Given the description of an element on the screen output the (x, y) to click on. 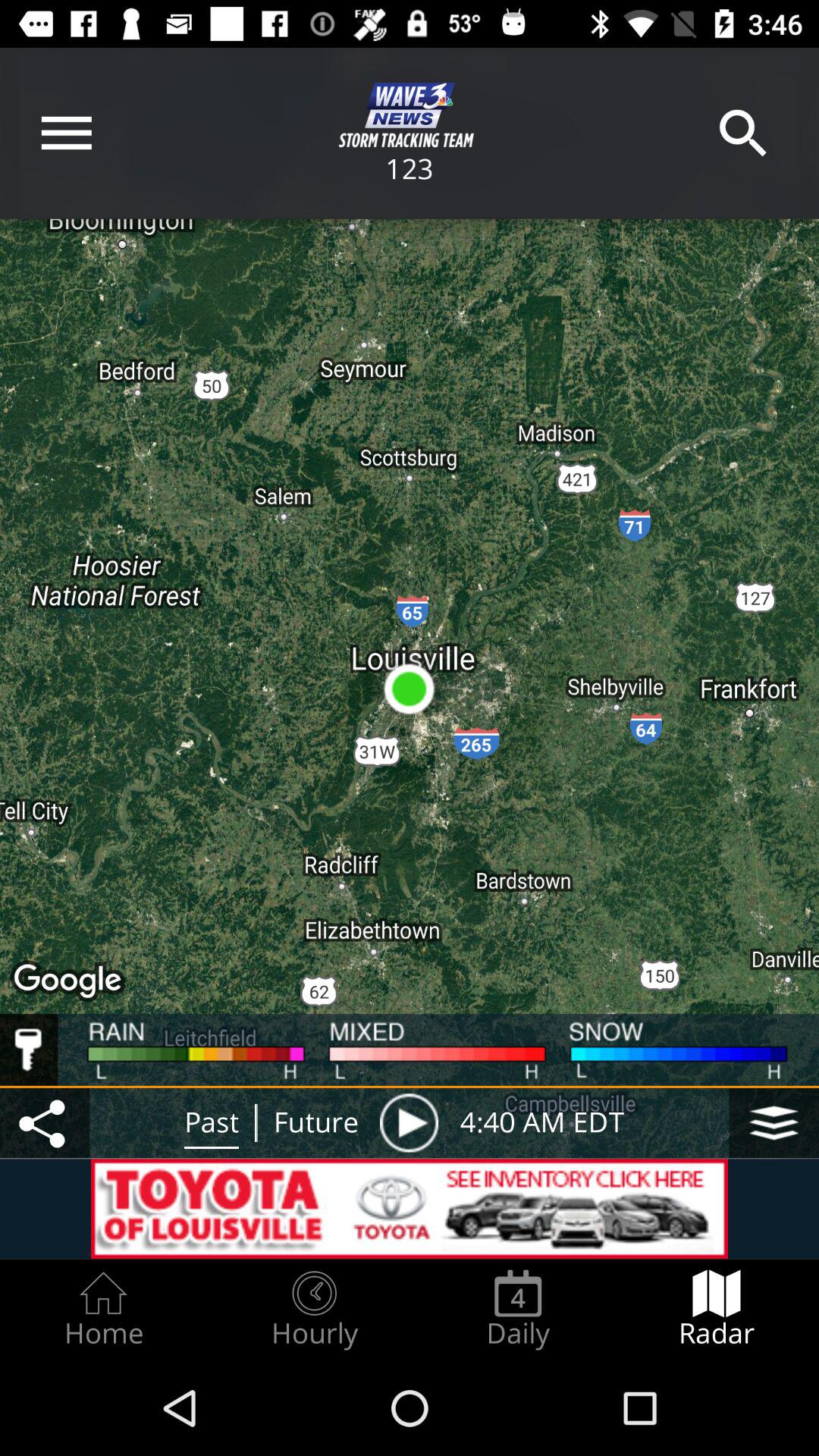
click the item to the left of hourly item (103, 1309)
